Given the description of an element on the screen output the (x, y) to click on. 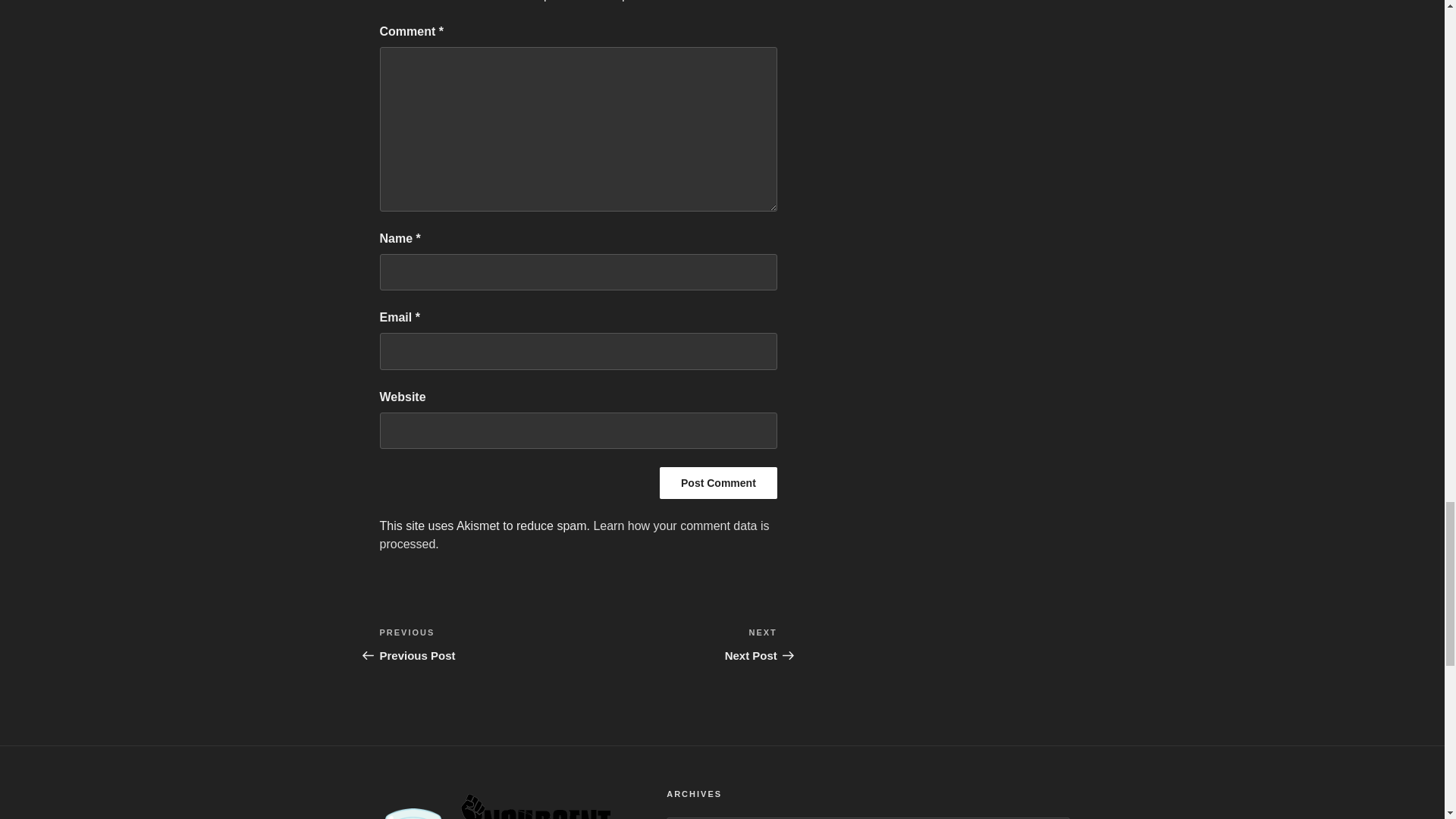
Post Comment (478, 644)
Learn how your comment data is processed (718, 482)
Post Comment (573, 534)
